Given the description of an element on the screen output the (x, y) to click on. 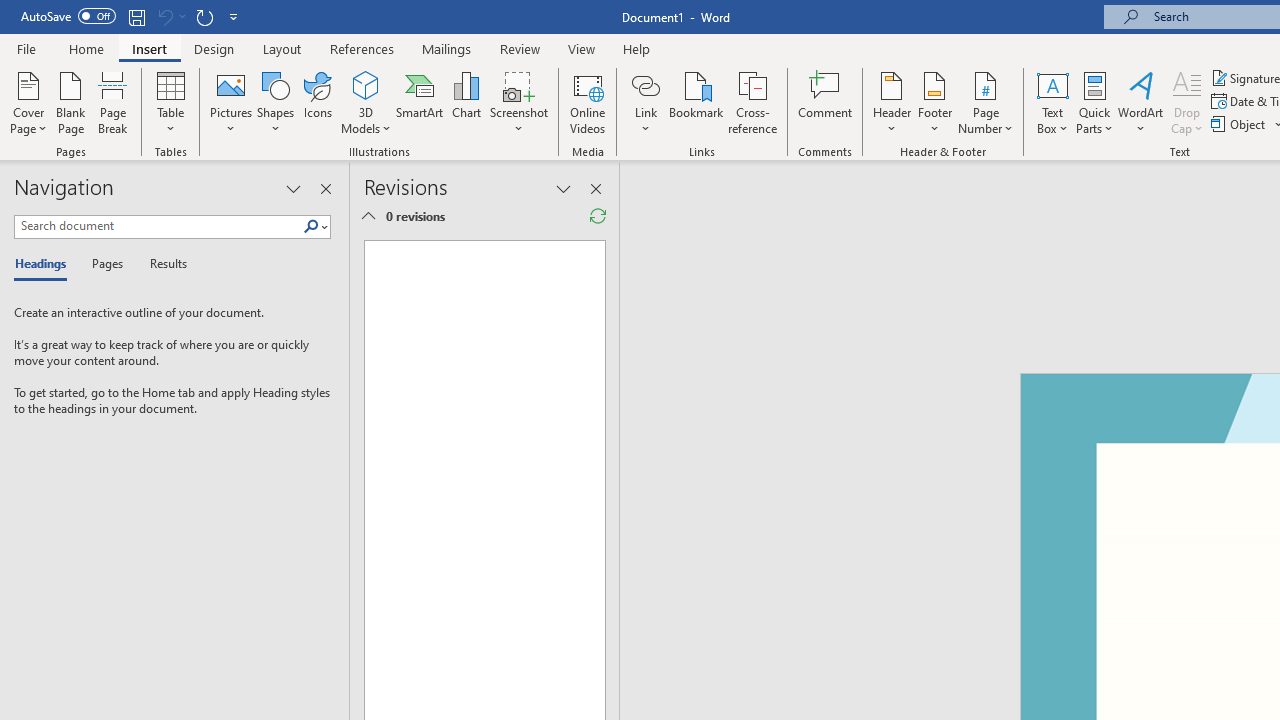
Results (161, 264)
Bookmark... (695, 102)
Chart... (466, 102)
Blank Page (70, 102)
Close pane (325, 188)
Can't Undo (170, 15)
Footer (934, 102)
WordArt (1141, 102)
Icons (317, 102)
Drop Cap (1187, 102)
Header (891, 102)
